Given the description of an element on the screen output the (x, y) to click on. 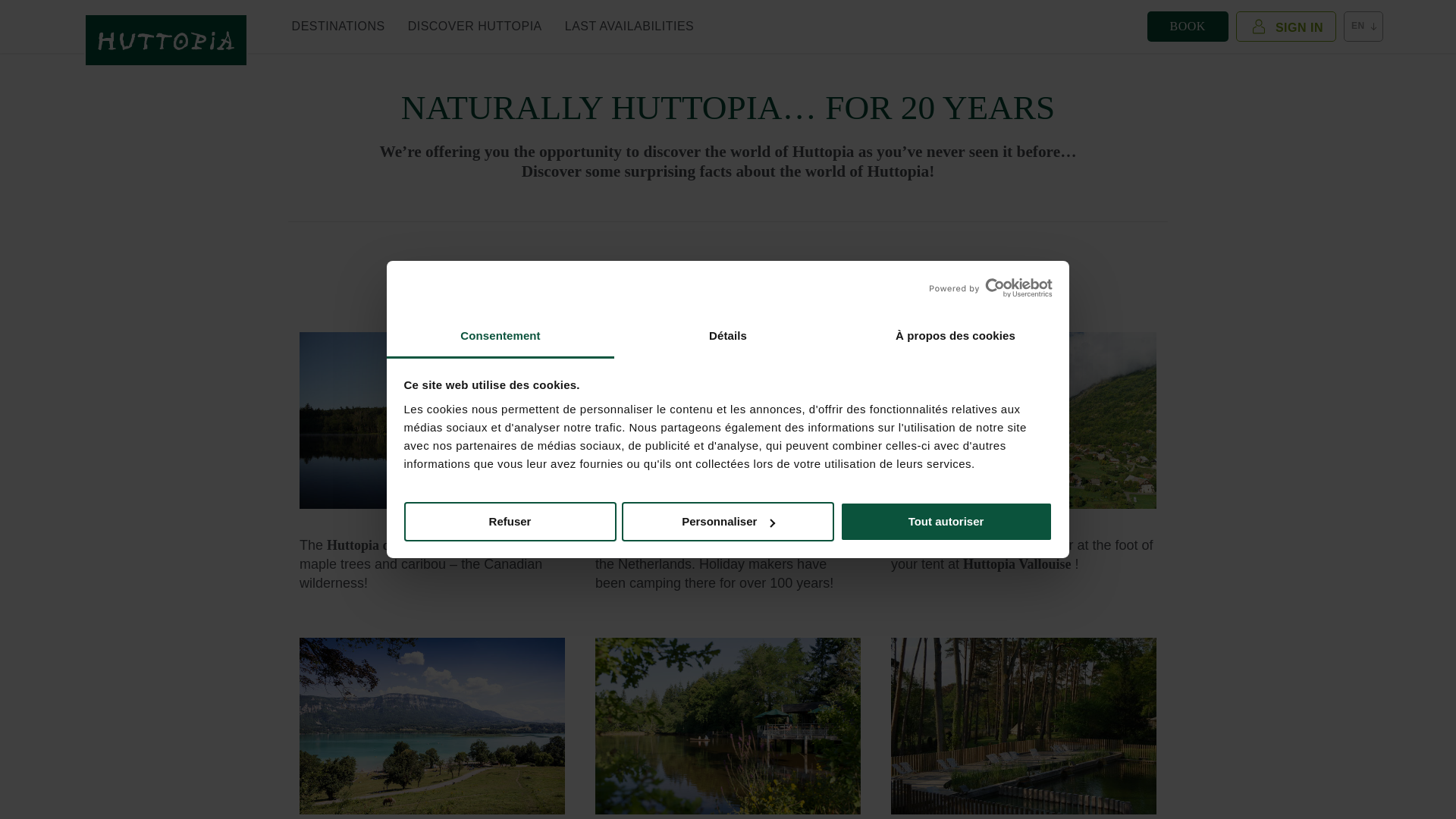
Consentement (500, 336)
